Given the description of an element on the screen output the (x, y) to click on. 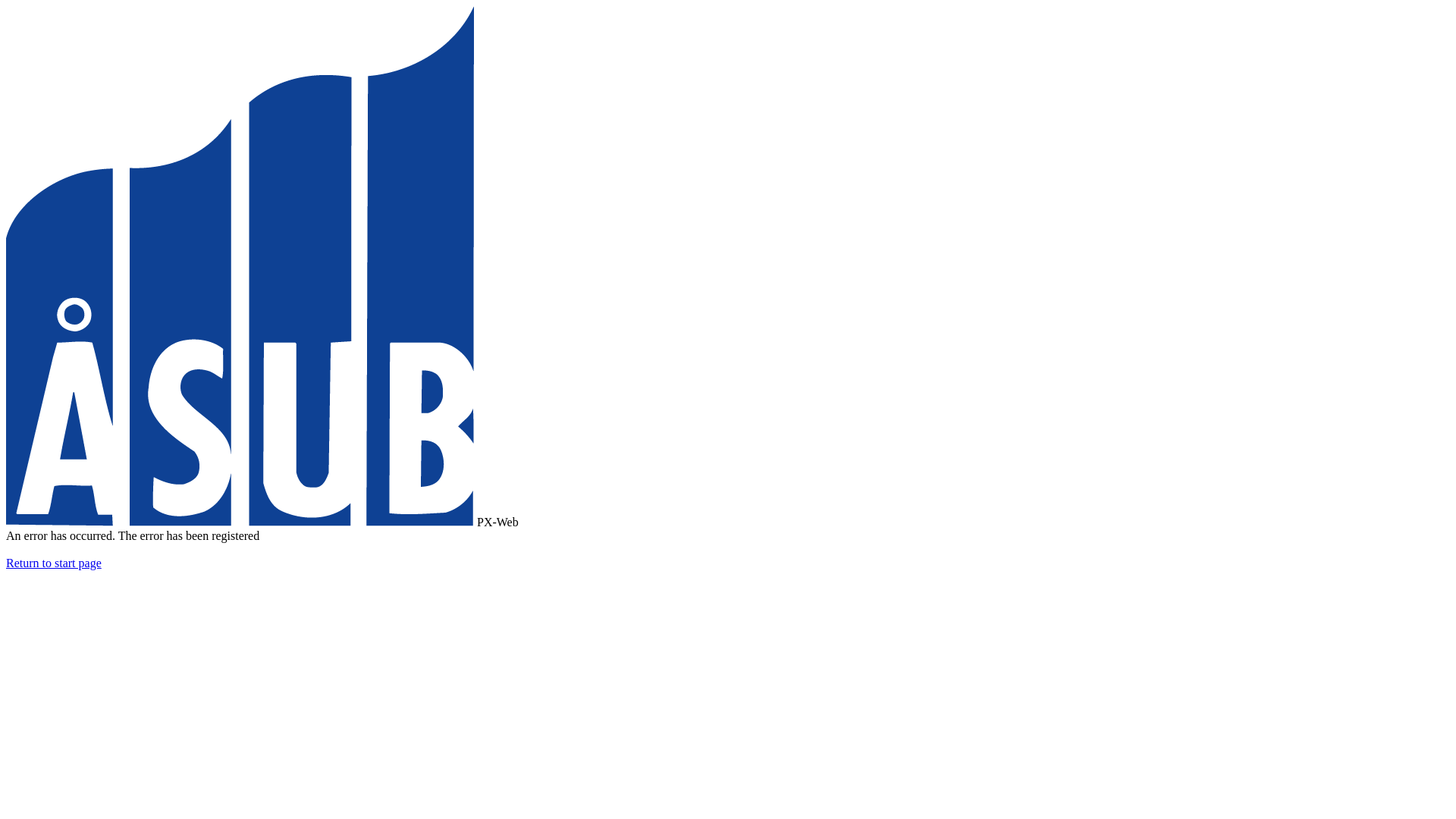
Return to start page Element type: text (53, 562)
